Given the description of an element on the screen output the (x, y) to click on. 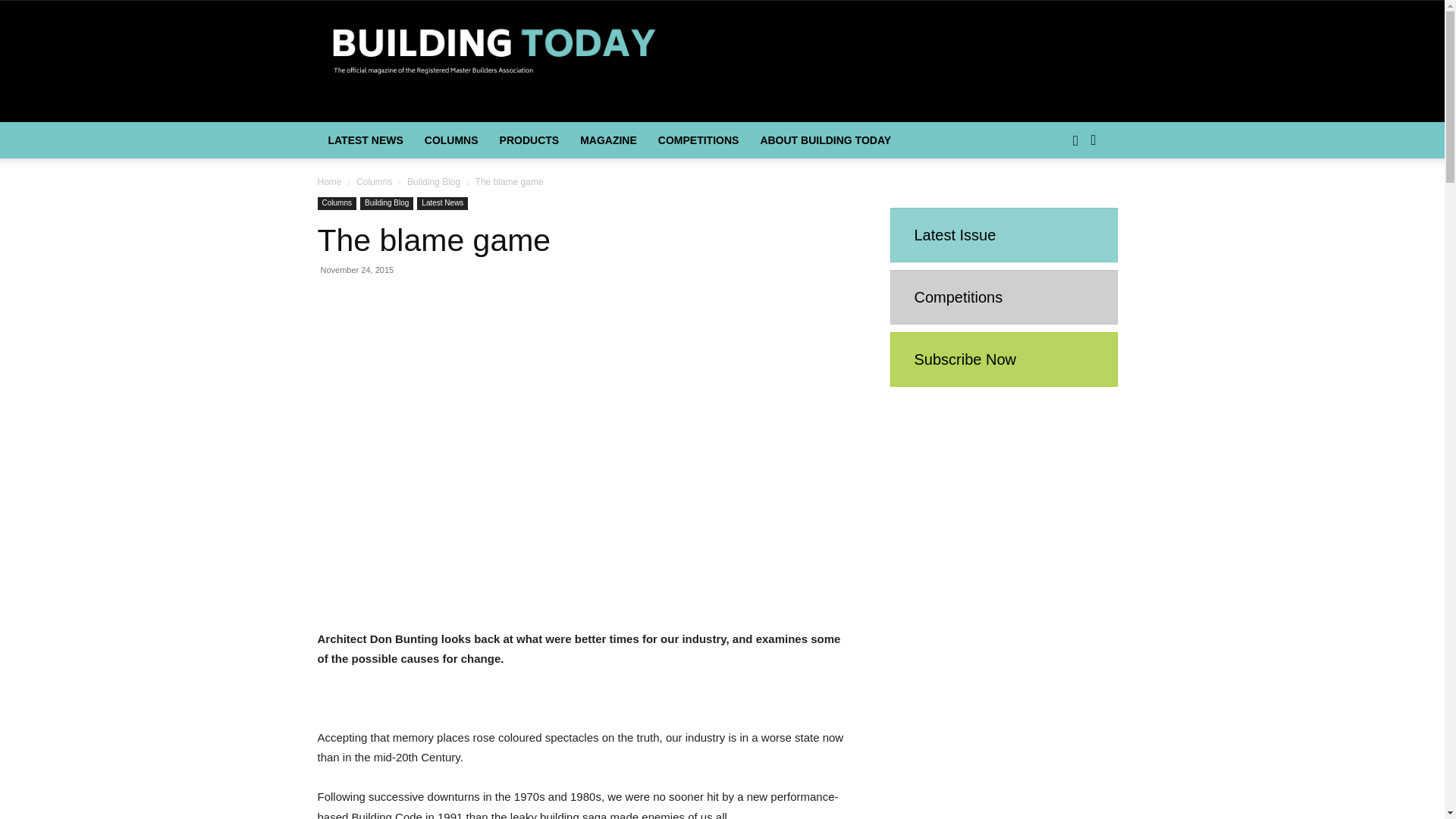
LATEST NEWS (365, 140)
View all posts in Building Blog (433, 181)
View all posts in Columns (373, 181)
COLUMNS (451, 140)
